Given the description of an element on the screen output the (x, y) to click on. 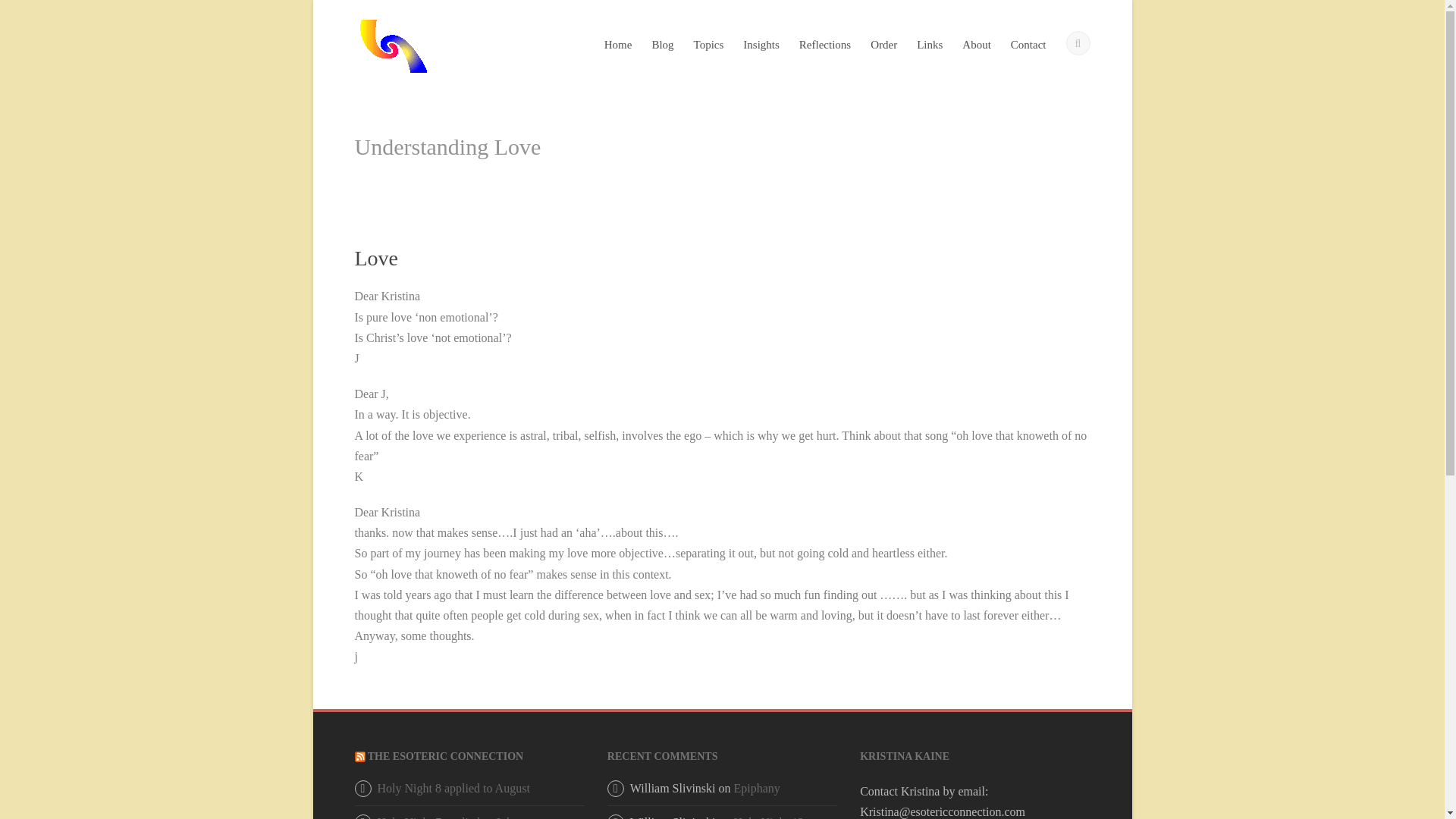
Epiphany (756, 788)
Holy Night 7 applied to July (446, 817)
Holy Night 8 applied to August (453, 788)
Holy Night 13 (768, 817)
Reflections (824, 56)
THE ESOTERIC CONNECTION (445, 756)
